Given the description of an element on the screen output the (x, y) to click on. 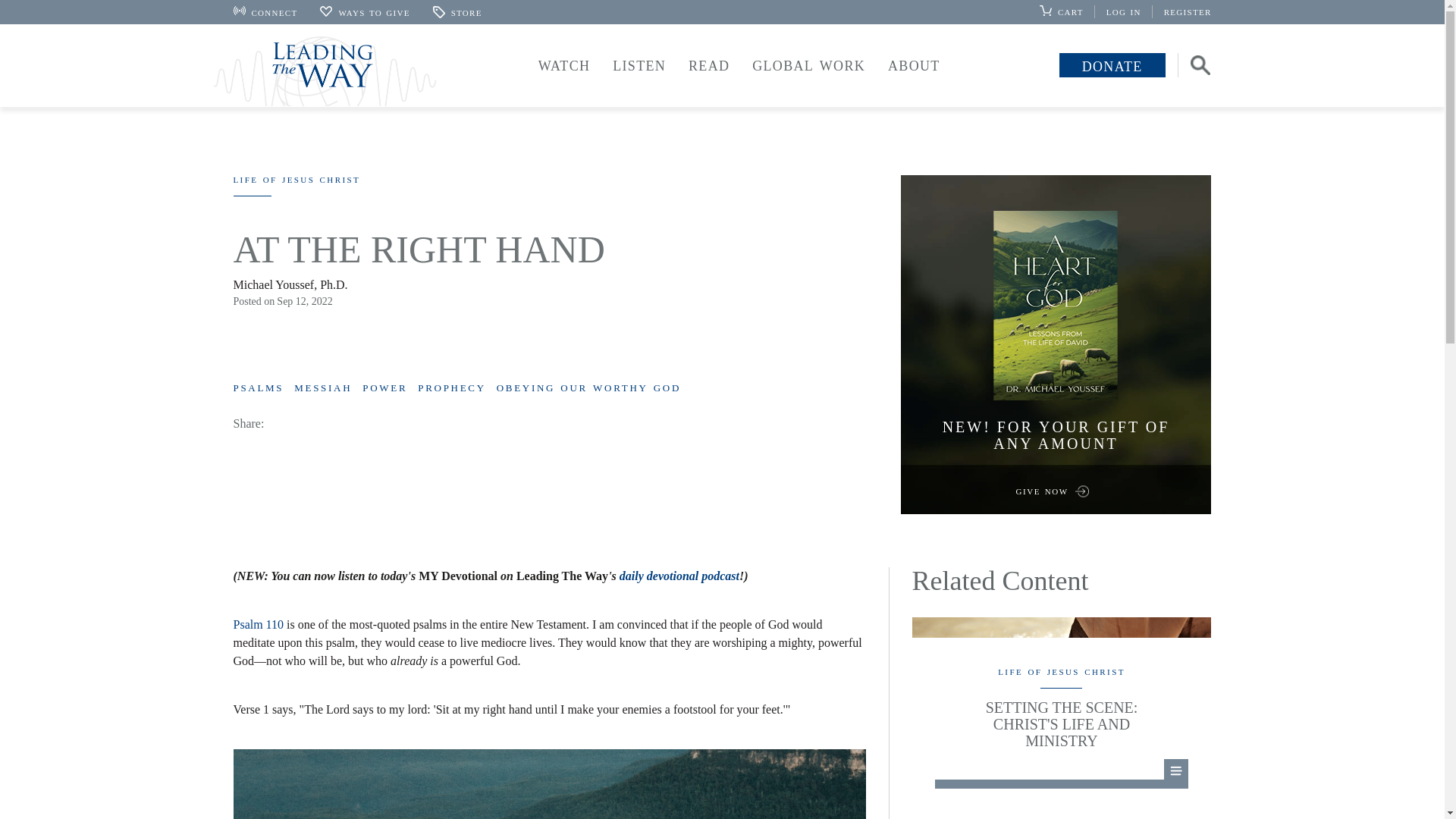
toggle menu (709, 67)
register (1187, 10)
Watch videos with Dr. Michael Youssef (564, 63)
about (914, 63)
toggle menu (808, 67)
listen (639, 63)
watch (564, 63)
Leading The Way with Dr. Michael Youssef (324, 71)
toggle menu (639, 67)
global work (808, 63)
